Given the description of an element on the screen output the (x, y) to click on. 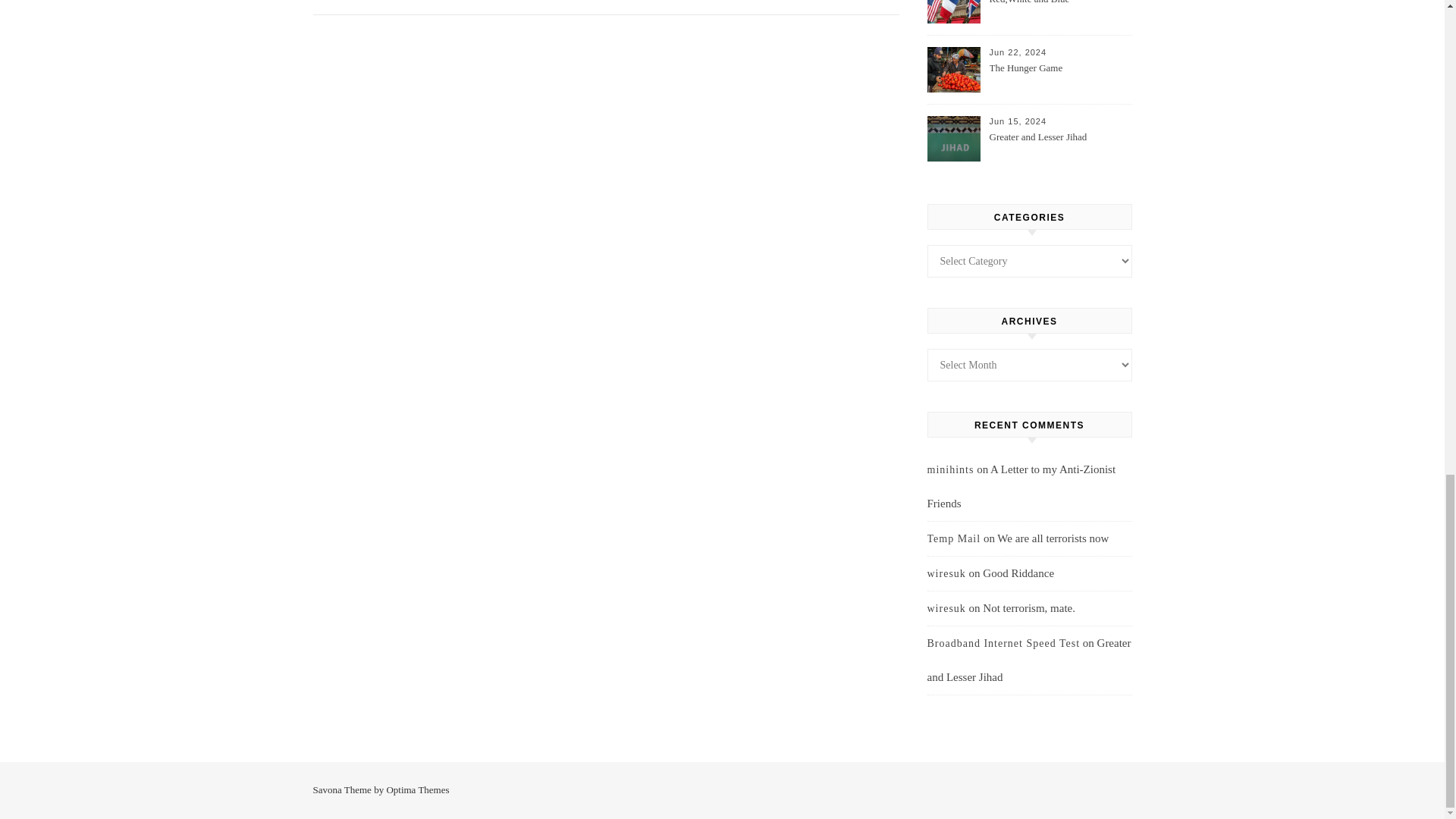
Temp Mail (952, 538)
Red,White and Blue (1058, 12)
minihints (950, 469)
Greater and Lesser Jihad (1058, 145)
The Hunger Game (1058, 77)
A Letter to my Anti-Zionist Friends (1020, 486)
